Given the description of an element on the screen output the (x, y) to click on. 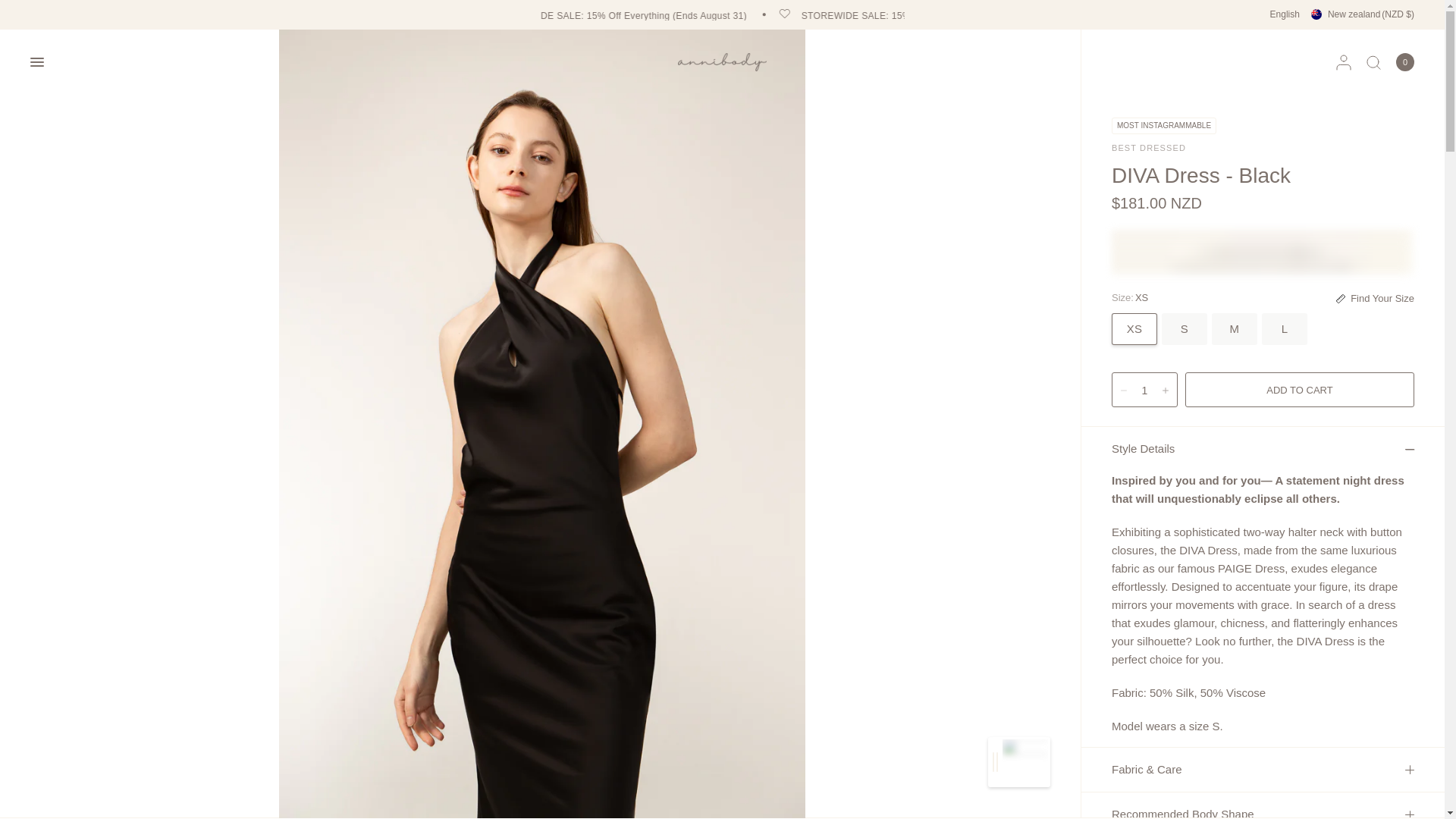
English (1284, 14)
